Given the description of an element on the screen output the (x, y) to click on. 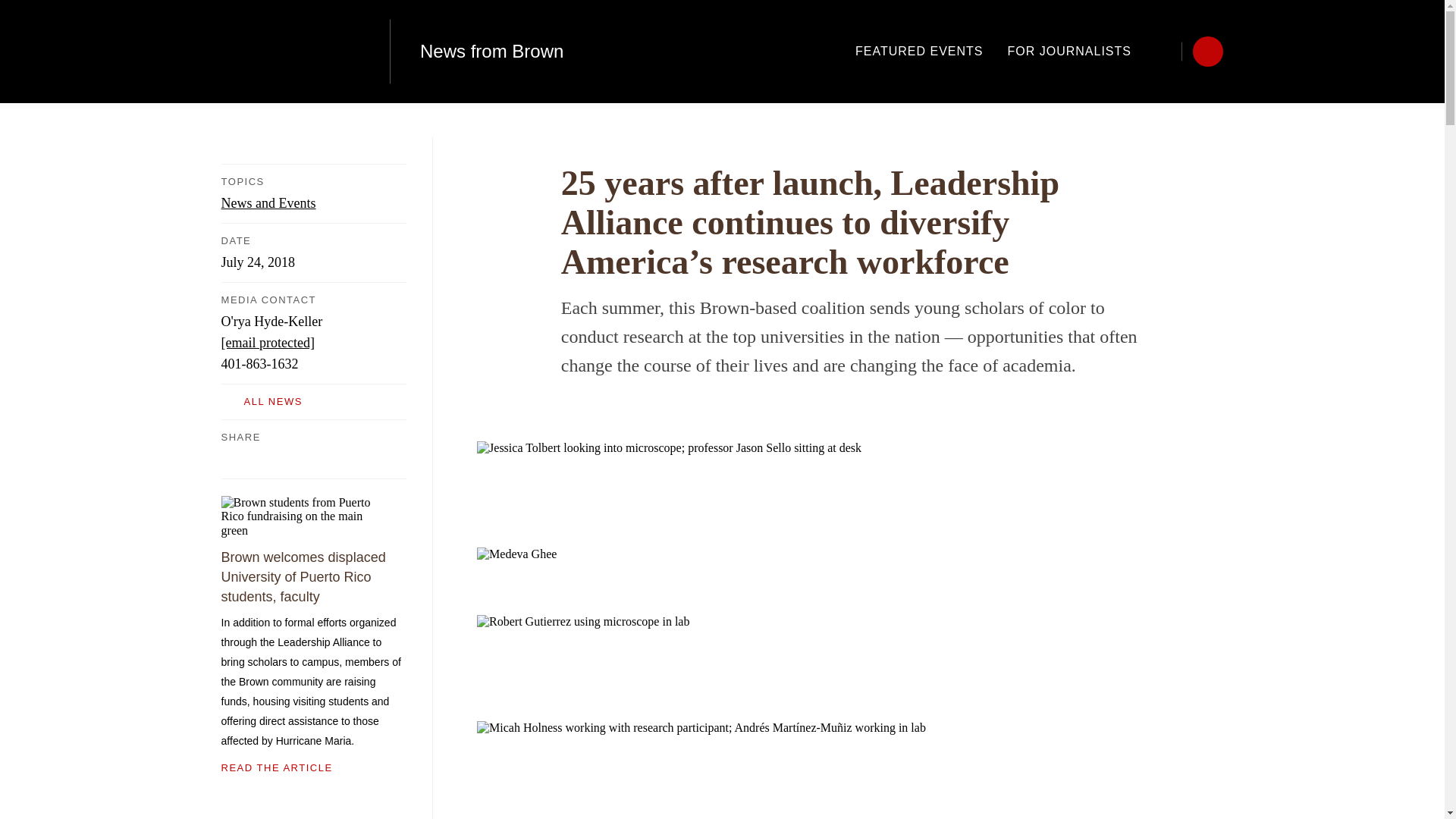
Search (1165, 51)
401-863-1632 (259, 363)
Email (318, 456)
FOR JOURNALISTS (1069, 51)
FEATURED EVENTS (919, 51)
READ THE ARTICLE (313, 766)
Menu (1207, 51)
ALL NEWS (313, 401)
News from Brown (491, 50)
